Given the description of an element on the screen output the (x, y) to click on. 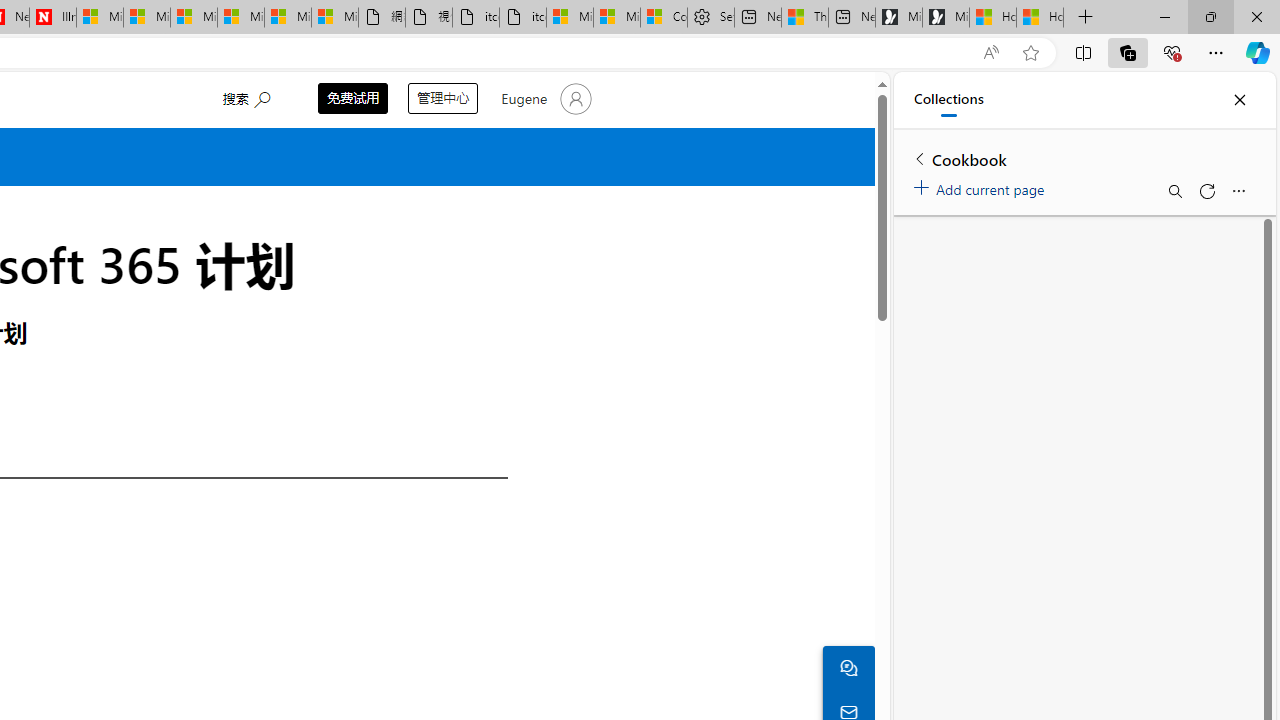
Consumer Health Data Privacy Policy (664, 17)
Add current page (982, 186)
Three Ways To Stop Sweating So Much (805, 17)
Illness news & latest pictures from Newsweek.com (52, 17)
